Given the description of an element on the screen output the (x, y) to click on. 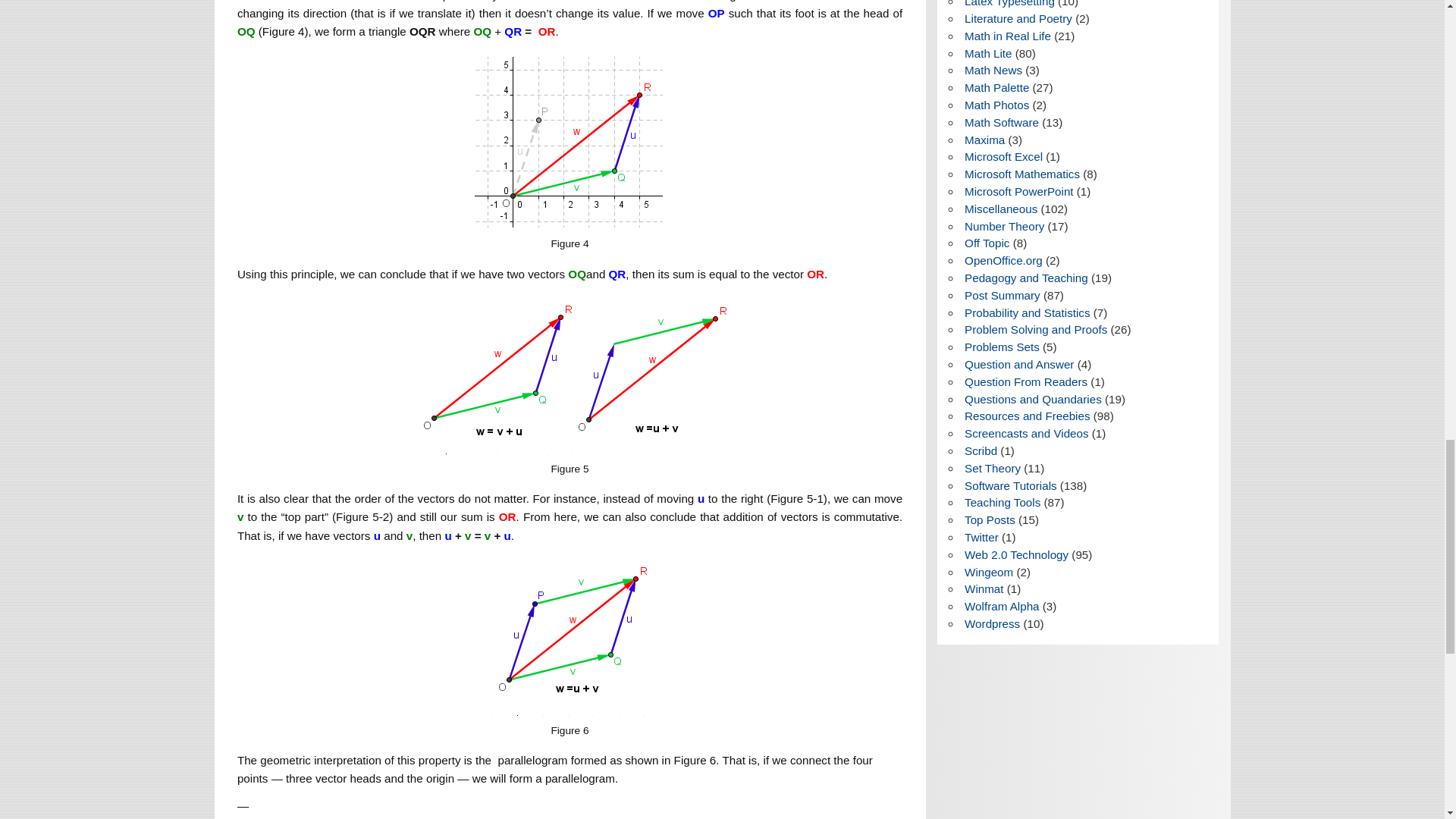
vectors1-6 (569, 635)
vectors1-5 (568, 374)
vectors1-4 (568, 141)
